Given the description of an element on the screen output the (x, y) to click on. 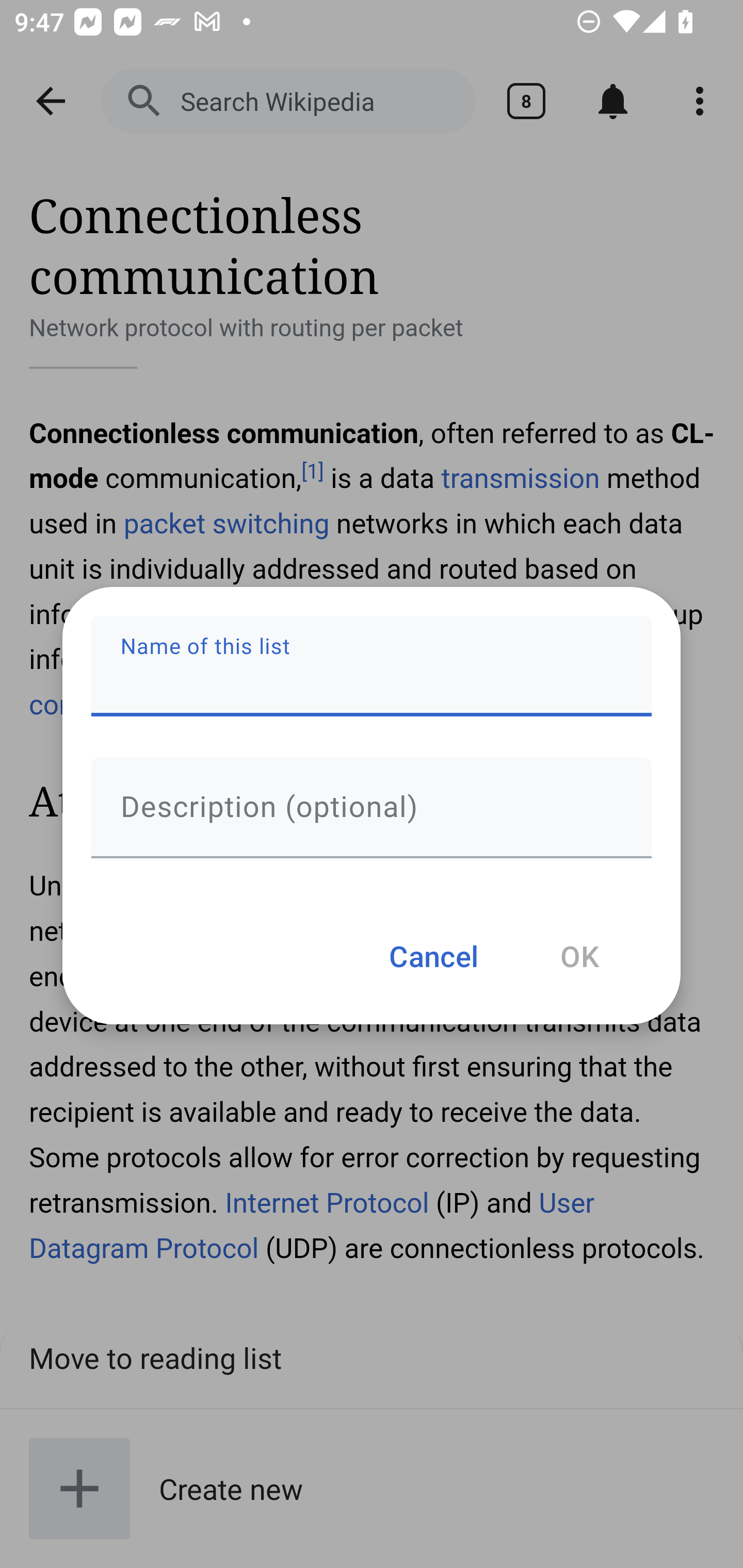
Name of this list (371, 666)
Description (optional) (371, 807)
Cancel (433, 955)
OK (579, 955)
